Given the description of an element on the screen output the (x, y) to click on. 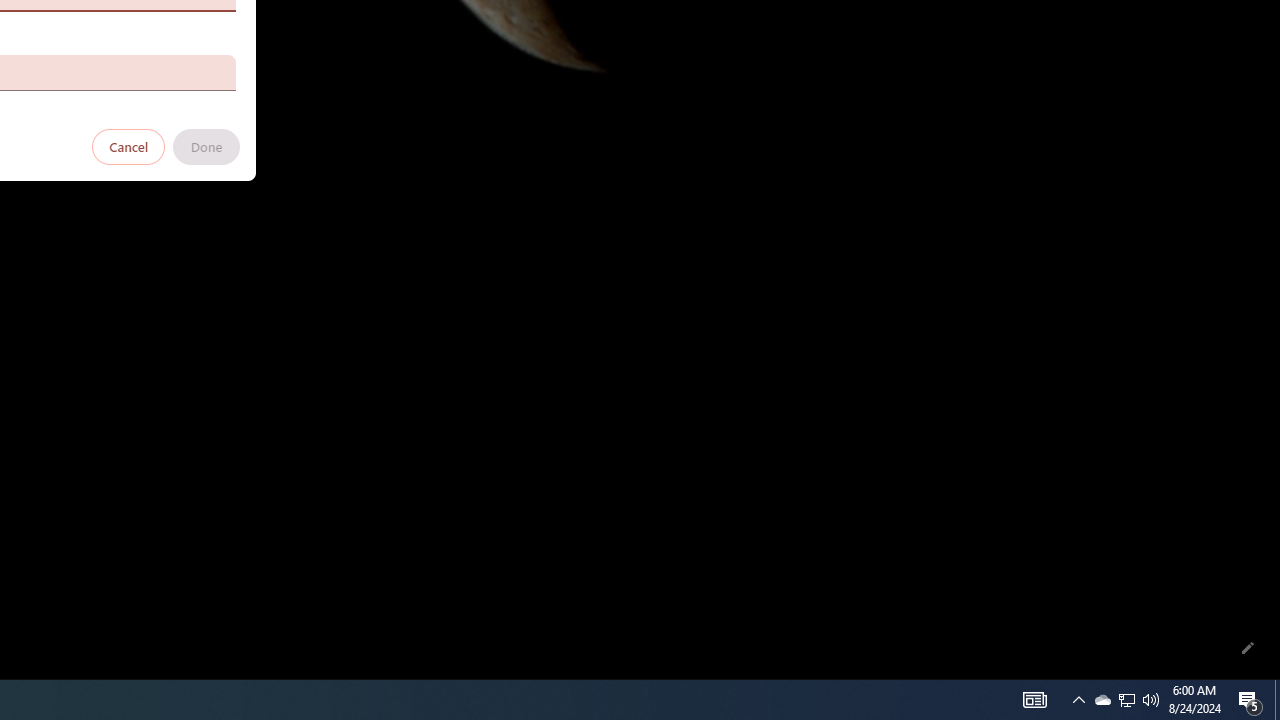
Cancel (129, 146)
Done (206, 146)
